Given the description of an element on the screen output the (x, y) to click on. 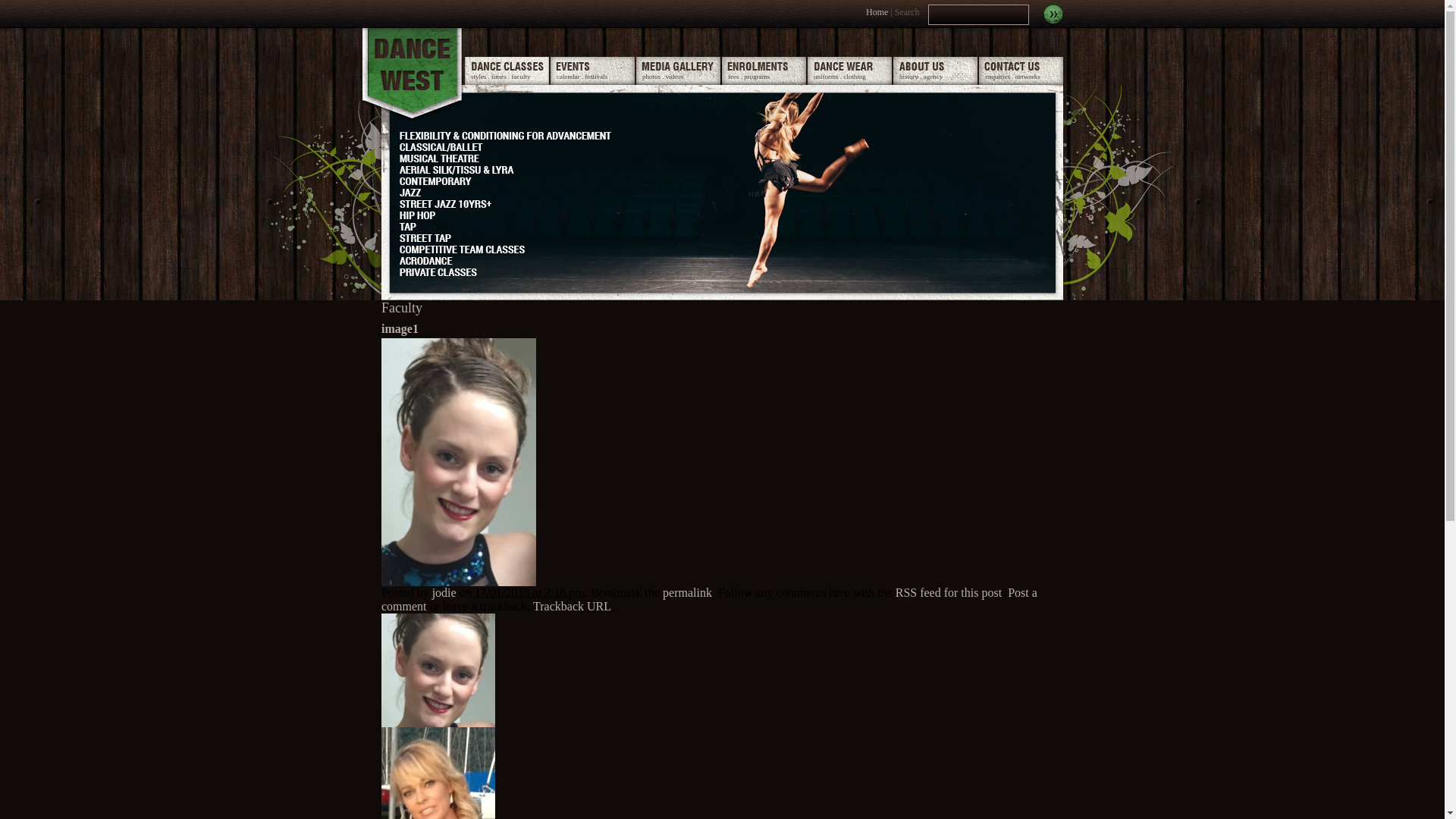
calendar . festivals Element type: text (592, 70)
Home Element type: text (877, 11)
Faculty Element type: text (401, 307)
jodie Element type: text (444, 592)
permalink Element type: text (687, 592)
Trackback URL Element type: text (572, 605)
enquiries . networks Element type: text (1021, 70)
photos . videos Element type: text (678, 70)
Dance wEST03 Element type: hover (412, 75)
RSS feed for this post Element type: text (948, 592)
uniforms . clothing Element type: text (849, 70)
image1 Element type: hover (458, 581)
history . agency Element type: text (935, 70)
Post a comment Element type: text (709, 599)
fees . programs Element type: text (763, 70)
styles . times . faculty Element type: text (506, 70)
